Given the description of an element on the screen output the (x, y) to click on. 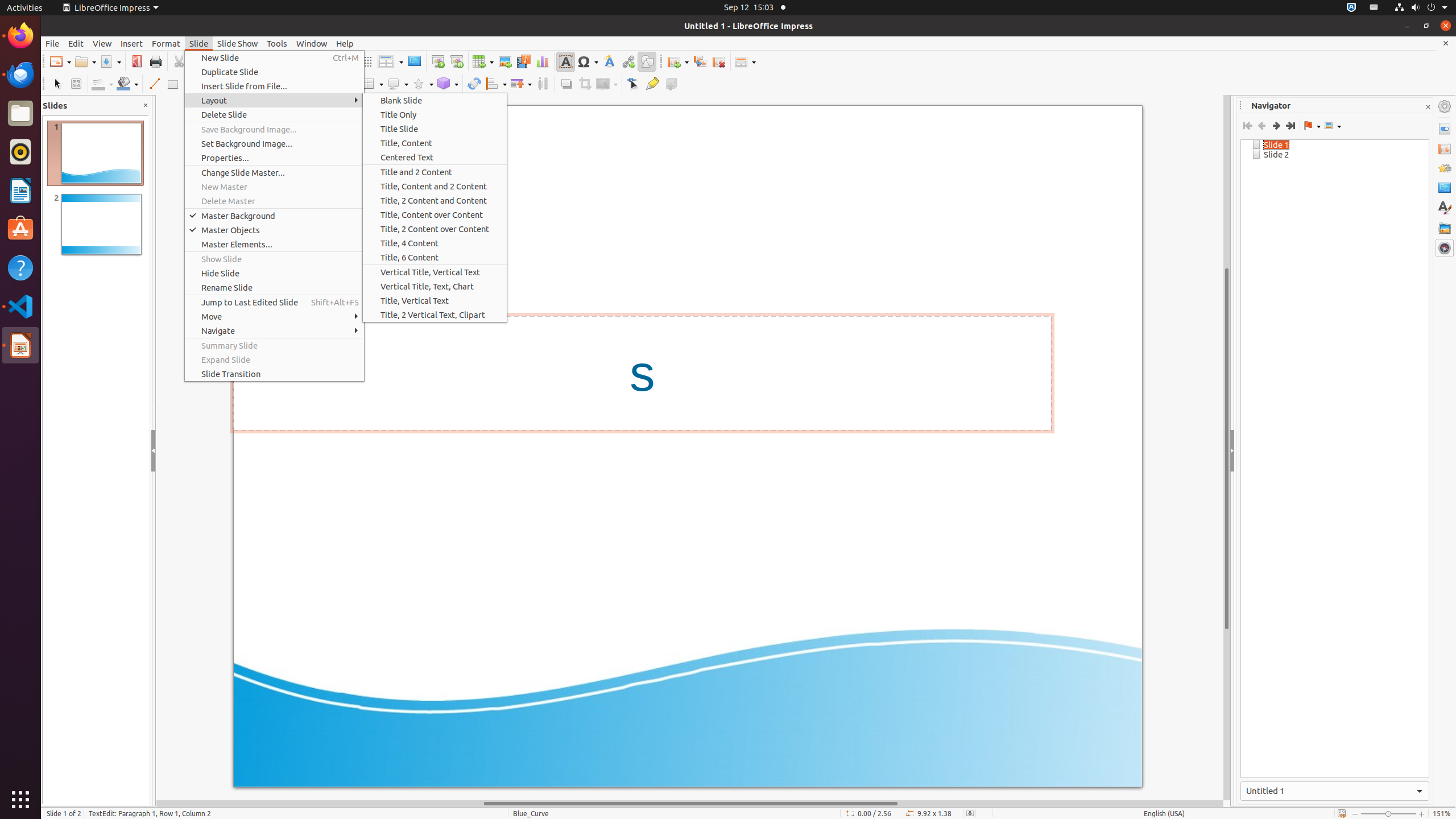
Animation Element type: radio-button (1444, 168)
Files Element type: push-button (20, 113)
Insert Slide from File... Element type: menu-item (274, 86)
Vertical scroll bar Element type: scroll-bar (1226, 447)
Delete Slide Element type: menu-item (274, 114)
